Given the description of an element on the screen output the (x, y) to click on. 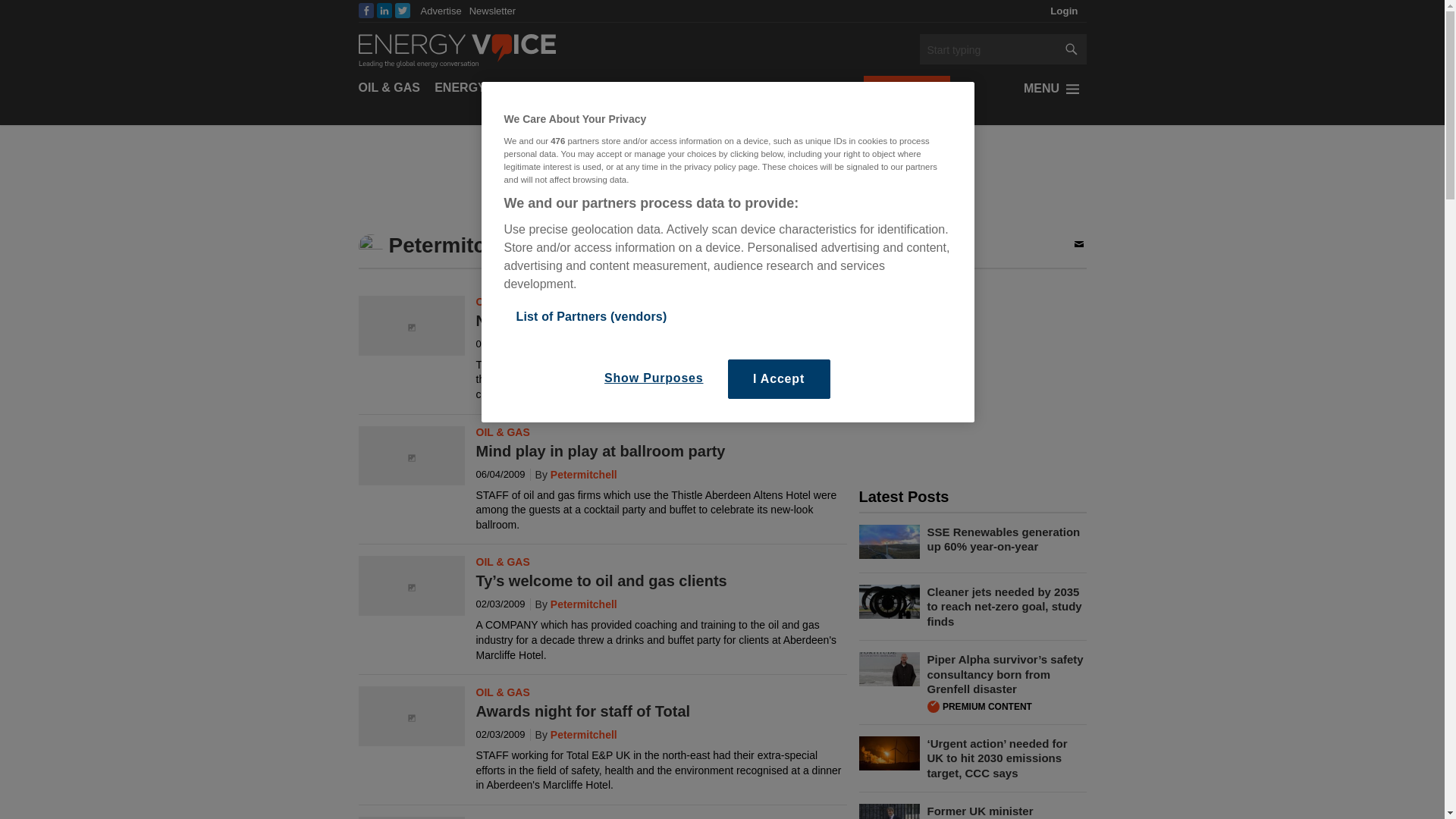
Newsletter (491, 11)
ENERGY TRANSITION (498, 87)
LinkedIn (383, 10)
Awards night for staff of Total (411, 718)
Nothing Ventured, nothing gained (411, 327)
Energy Voice (456, 49)
Search (987, 50)
Facebook (365, 10)
Petermitchell (573, 734)
MENU (1054, 87)
Petermitchell (573, 604)
Petermitchell (573, 344)
Mind play in play at ballroom party (411, 457)
US comes to town for Durango party (411, 817)
MARKETS (607, 87)
